Given the description of an element on the screen output the (x, y) to click on. 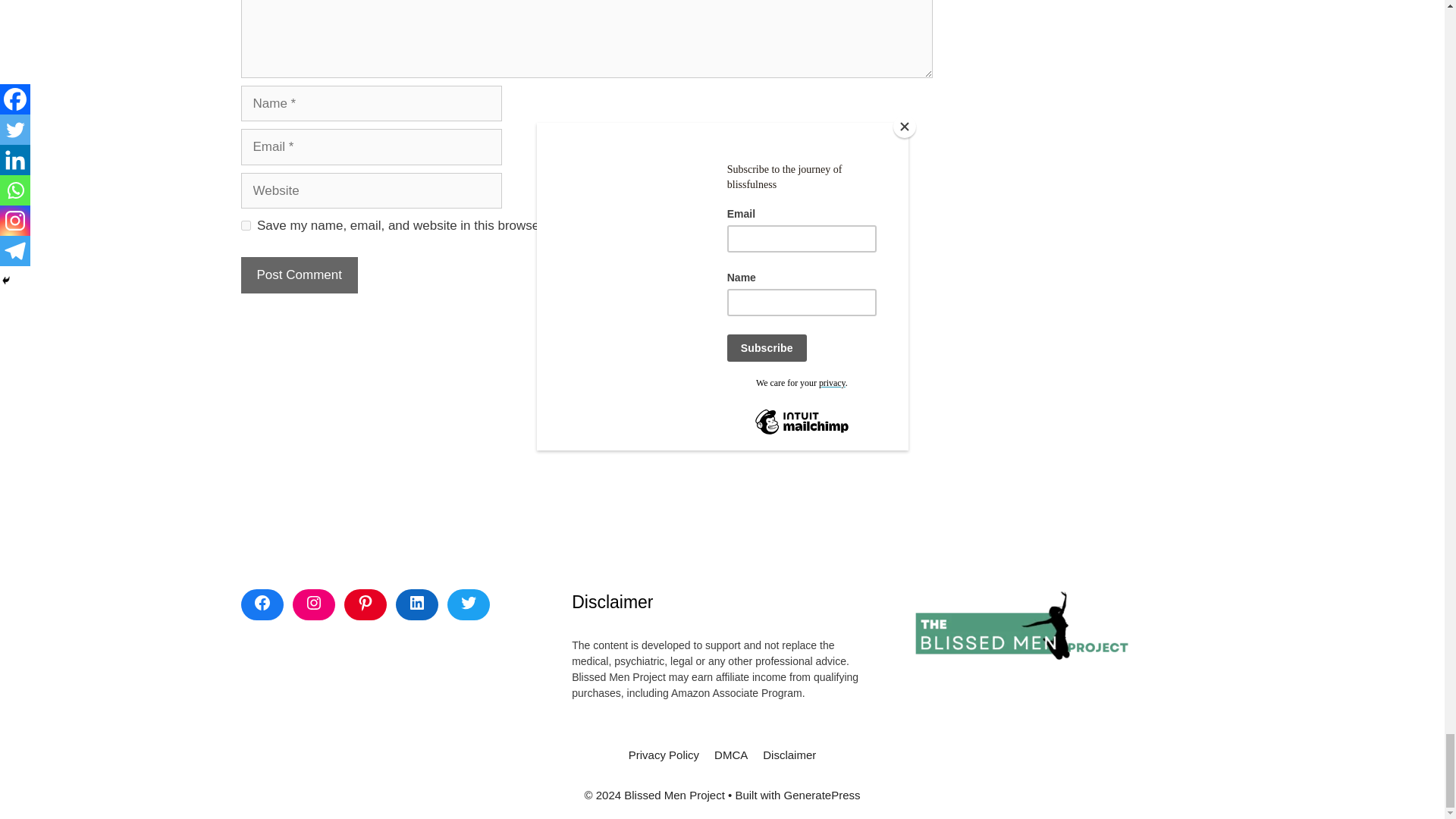
yes (245, 225)
Post Comment (299, 275)
